Given the description of an element on the screen output the (x, y) to click on. 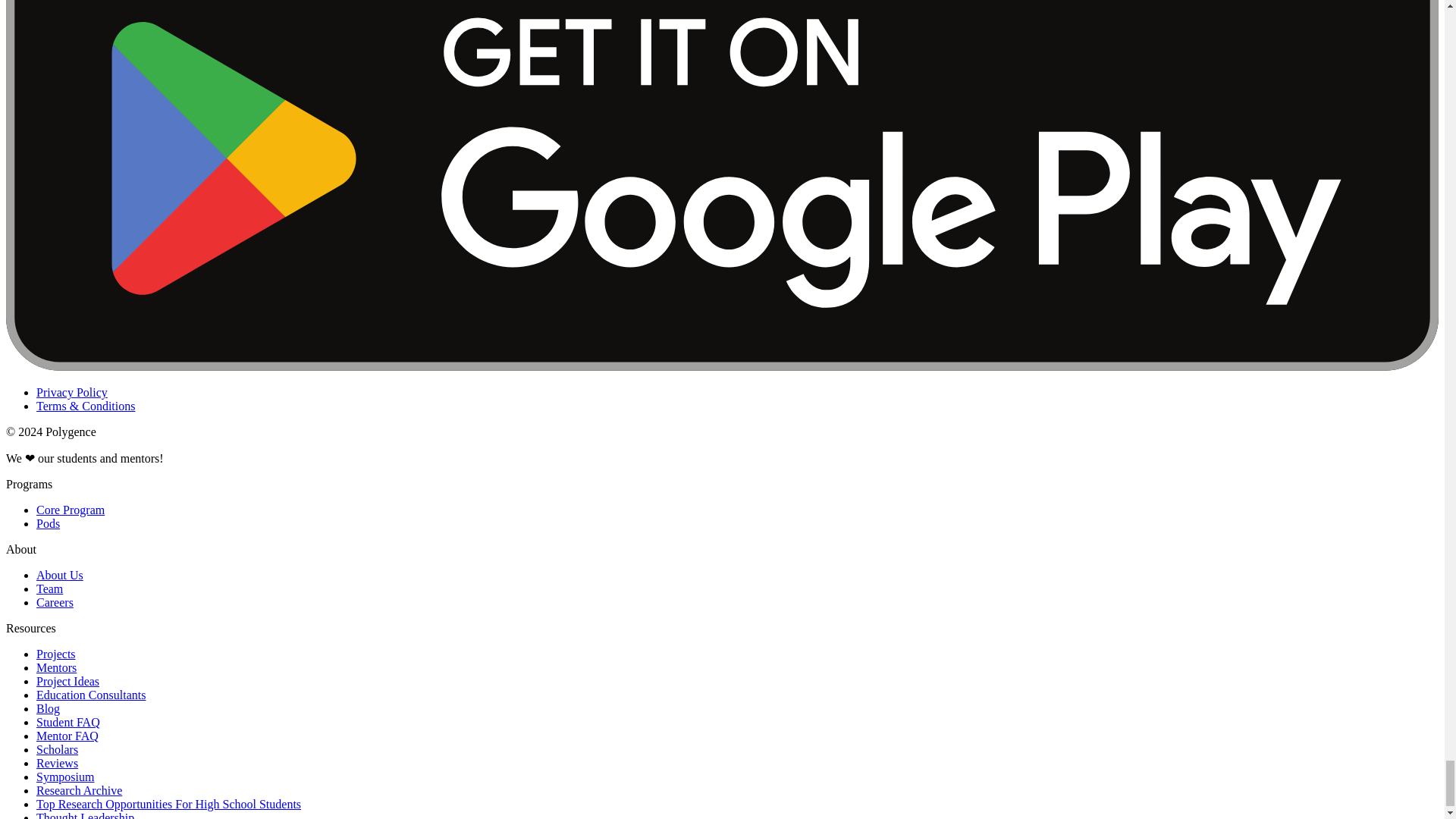
About Us (59, 574)
Mentor FAQ (67, 735)
Pods (47, 522)
Symposium (65, 776)
Research Archive (79, 789)
Project Ideas (67, 680)
Reviews (57, 762)
Core Program (70, 509)
Careers (55, 602)
Scholars (57, 748)
Projects (55, 653)
Top Research Opportunities For High School Students (168, 803)
Mentors (56, 667)
Blog (47, 707)
Privacy Policy (71, 391)
